Given the description of an element on the screen output the (x, y) to click on. 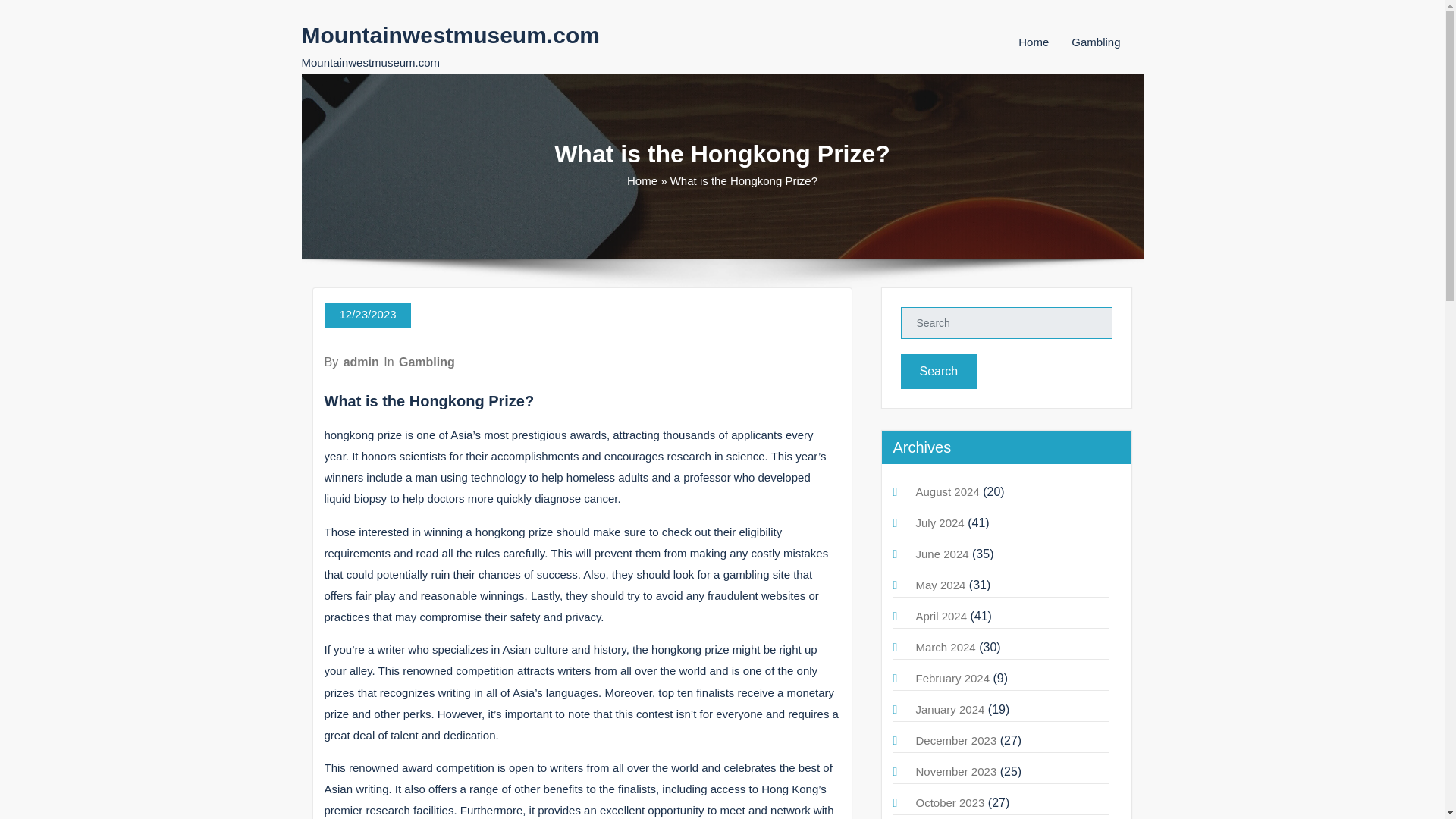
August 2024 (947, 491)
March 2024 (945, 646)
October 2023 (950, 802)
December 2023 (956, 739)
admin (361, 361)
May 2024 (940, 584)
June 2024 (942, 553)
Mountainwestmuseum.com (450, 34)
Home (642, 180)
July 2024 (939, 522)
